Given the description of an element on the screen output the (x, y) to click on. 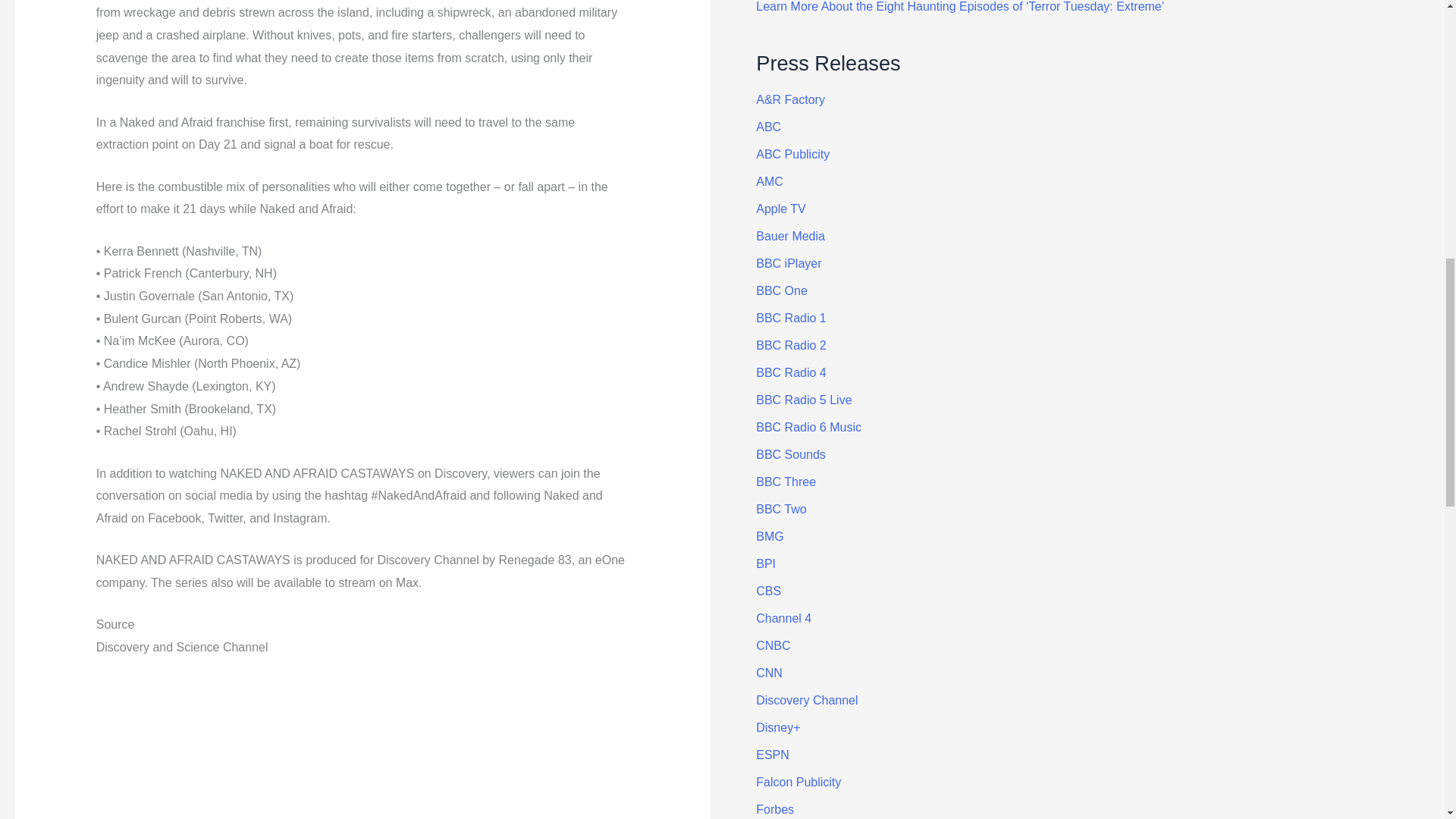
Discovey Naked and Afraid Castaways (363, 748)
